Given the description of an element on the screen output the (x, y) to click on. 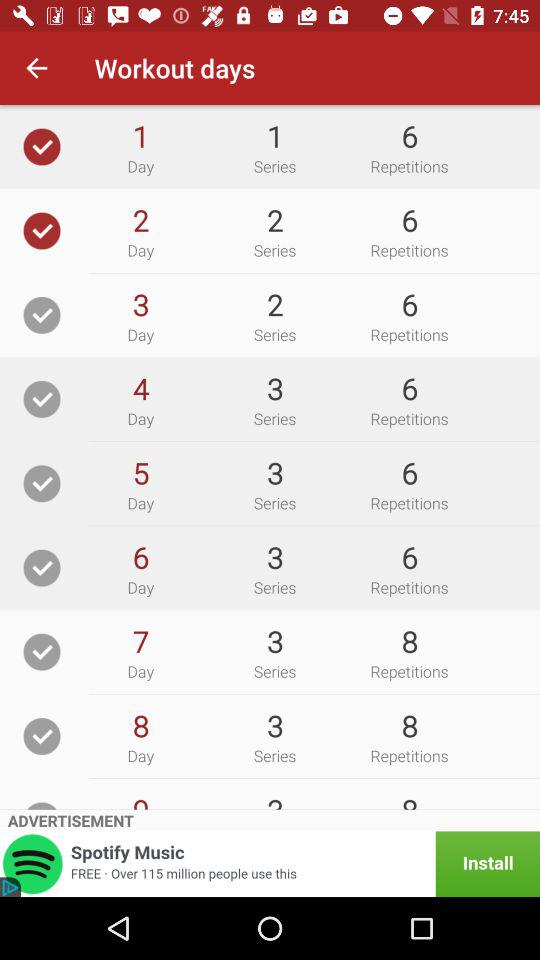
swipe until the 4 item (140, 388)
